Given the description of an element on the screen output the (x, y) to click on. 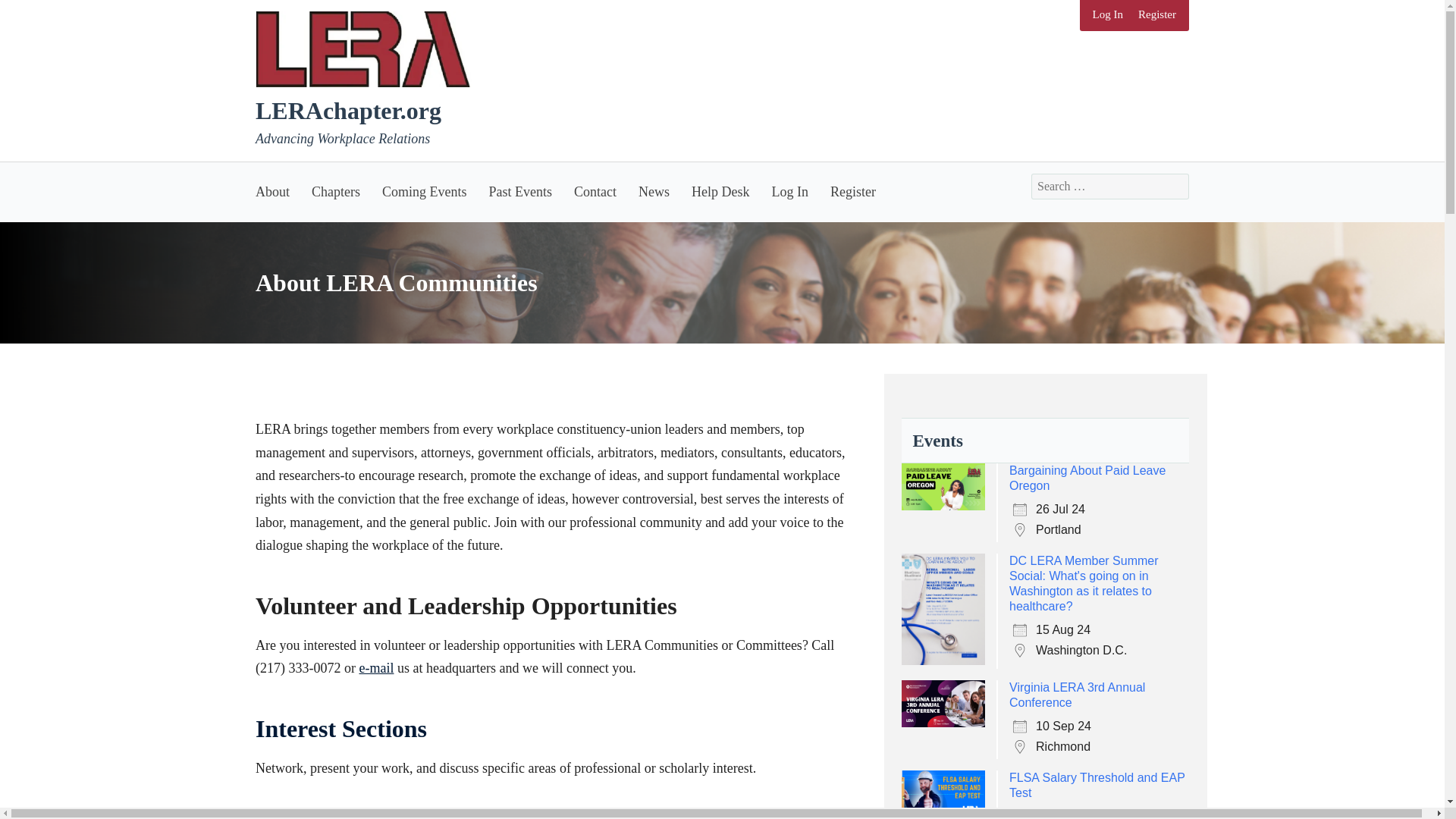
About (278, 191)
e-mail (375, 667)
Help Desk (719, 191)
Register (852, 191)
News (653, 191)
Log In (1107, 14)
Industry Councils (349, 816)
Register (1157, 14)
Coming Events (424, 191)
LERAchapter.org (348, 110)
Log In (789, 191)
Past Events (520, 191)
Contact (594, 191)
Interest Sections (341, 728)
Chapters (335, 191)
